Given the description of an element on the screen output the (x, y) to click on. 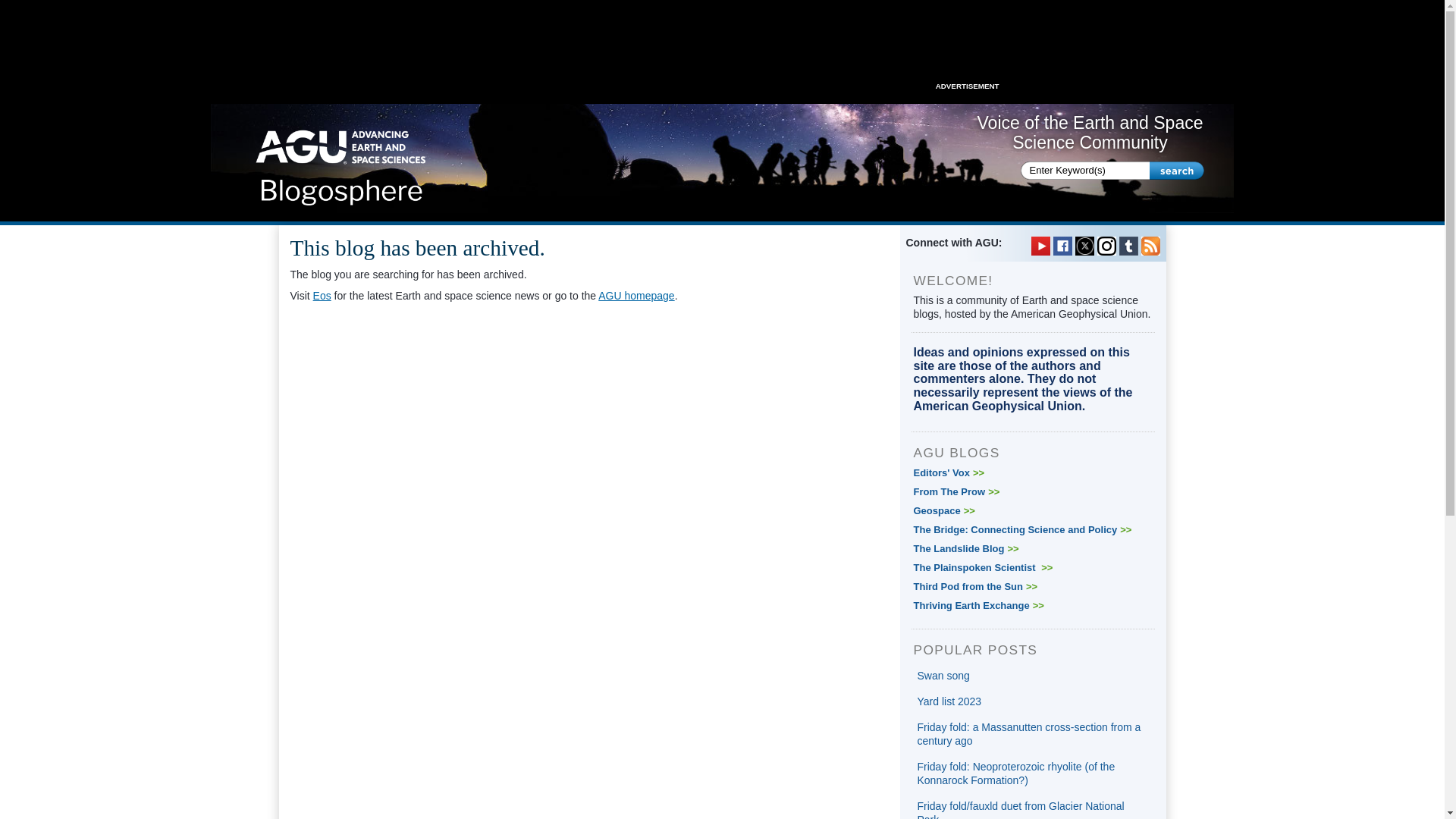
Friday fold: a Massanutten cross-section from a century ago (1029, 733)
Friday fold: a Massanutten cross-section from a century ago (1029, 733)
Yard list 2023 (949, 701)
Eos (322, 295)
AGU homepage (636, 295)
Yard list 2023 (949, 701)
Swan song (943, 675)
3rd party ad content (721, 45)
Swan song (943, 675)
Home (341, 162)
